Given the description of an element on the screen output the (x, y) to click on. 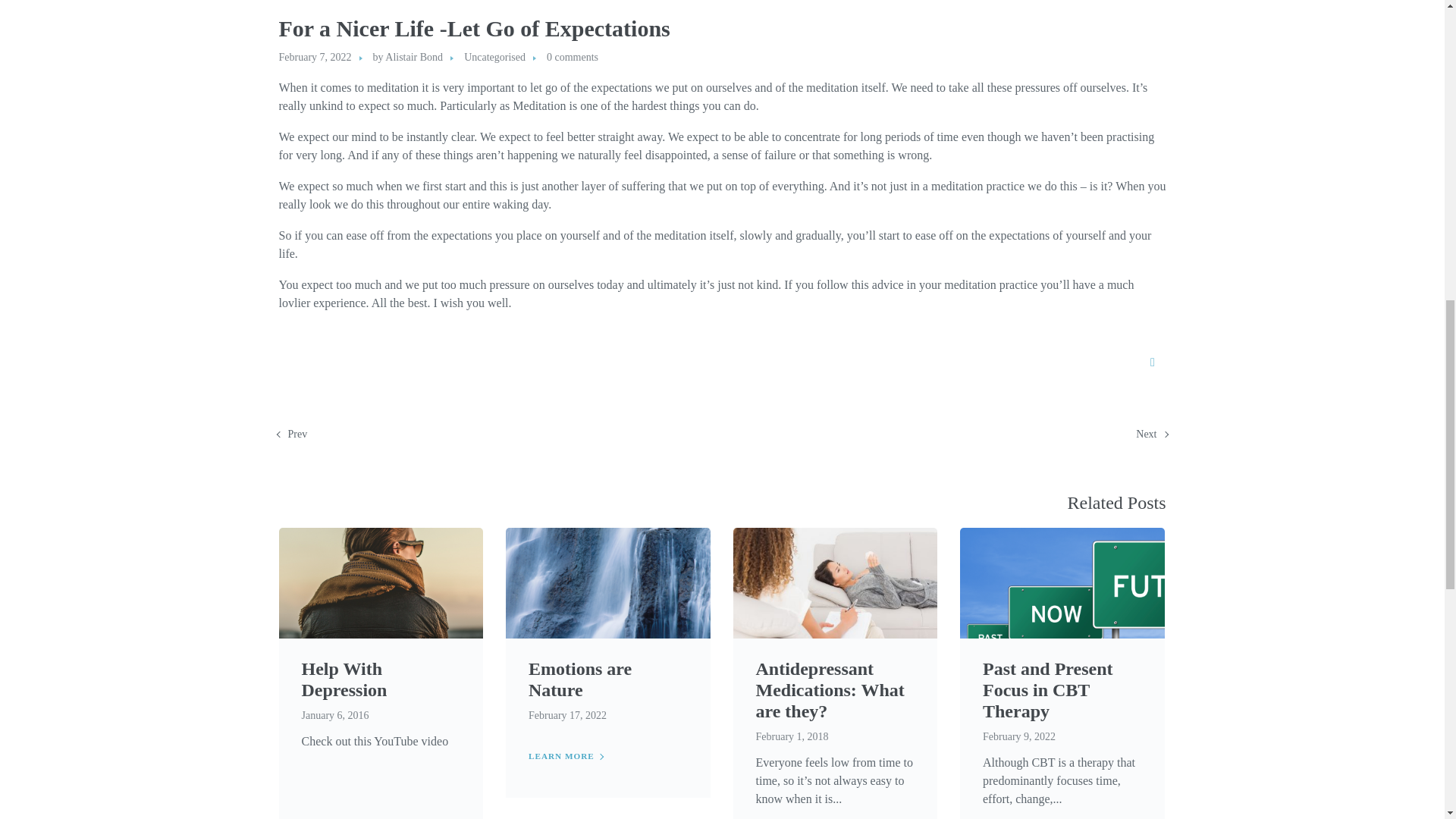
CBT Therapy for Depression? (381, 785)
